Given the description of an element on the screen output the (x, y) to click on. 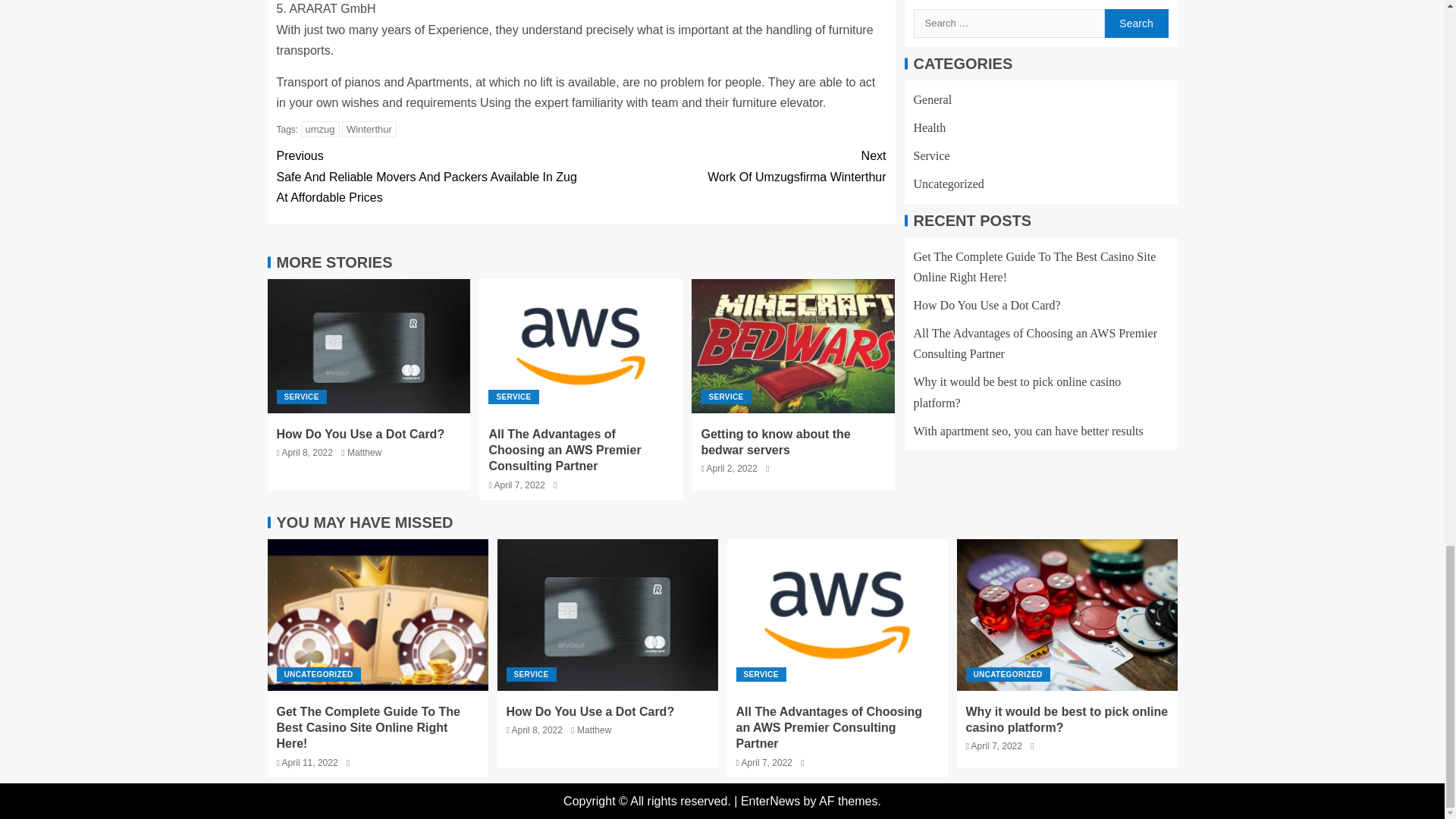
Winterthur (369, 129)
SERVICE (512, 396)
SERVICE (301, 396)
SERVICE (725, 396)
umzug (320, 129)
Getting to know about the bedwar servers (775, 441)
Matthew (364, 452)
How Do You Use a Dot Card? (360, 433)
